Given the description of an element on the screen output the (x, y) to click on. 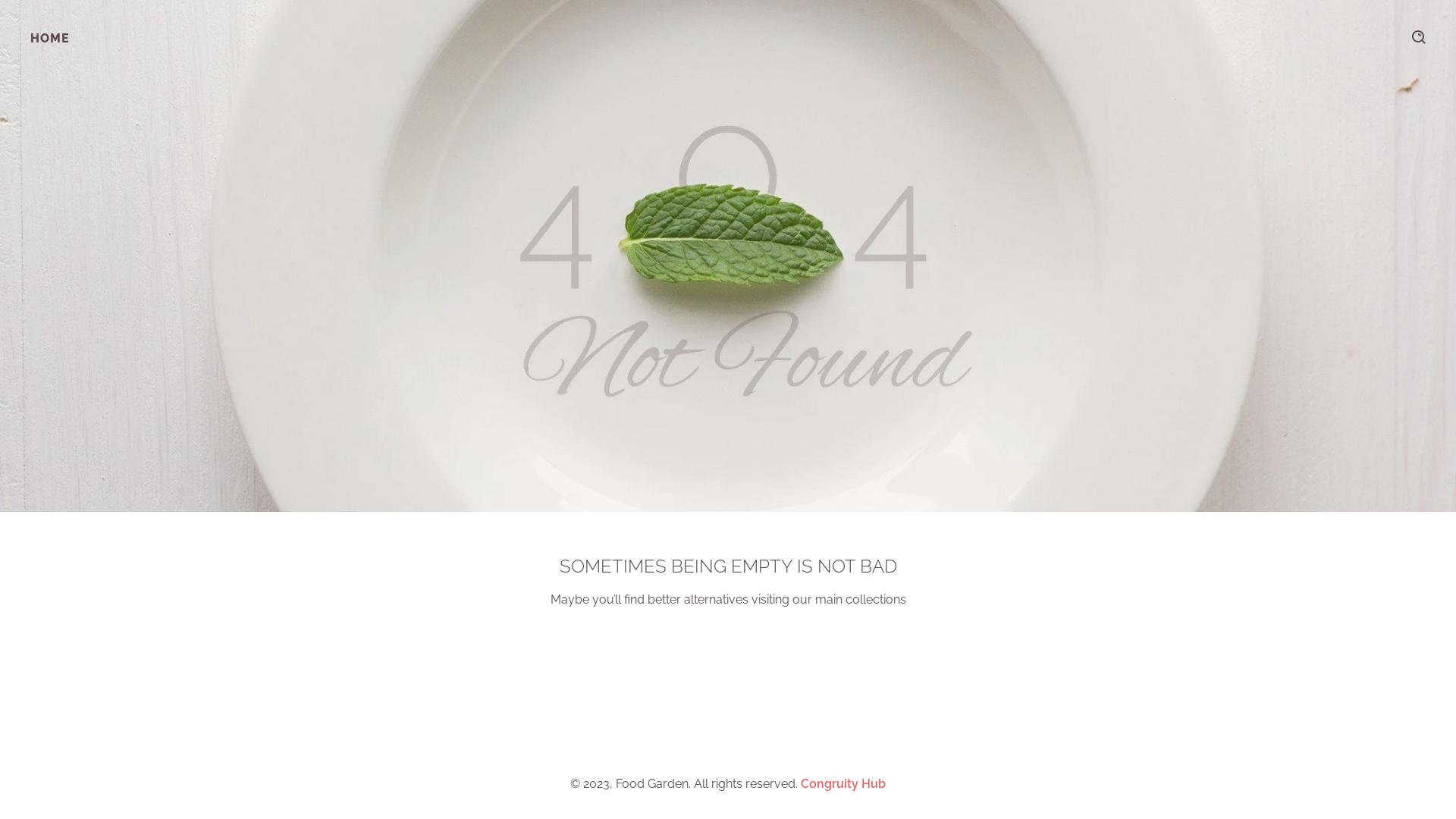
HOME Element type: text (49, 38)
Search Element type: text (1418, 36)
Congruity Hub Element type: text (842, 783)
